Given the description of an element on the screen output the (x, y) to click on. 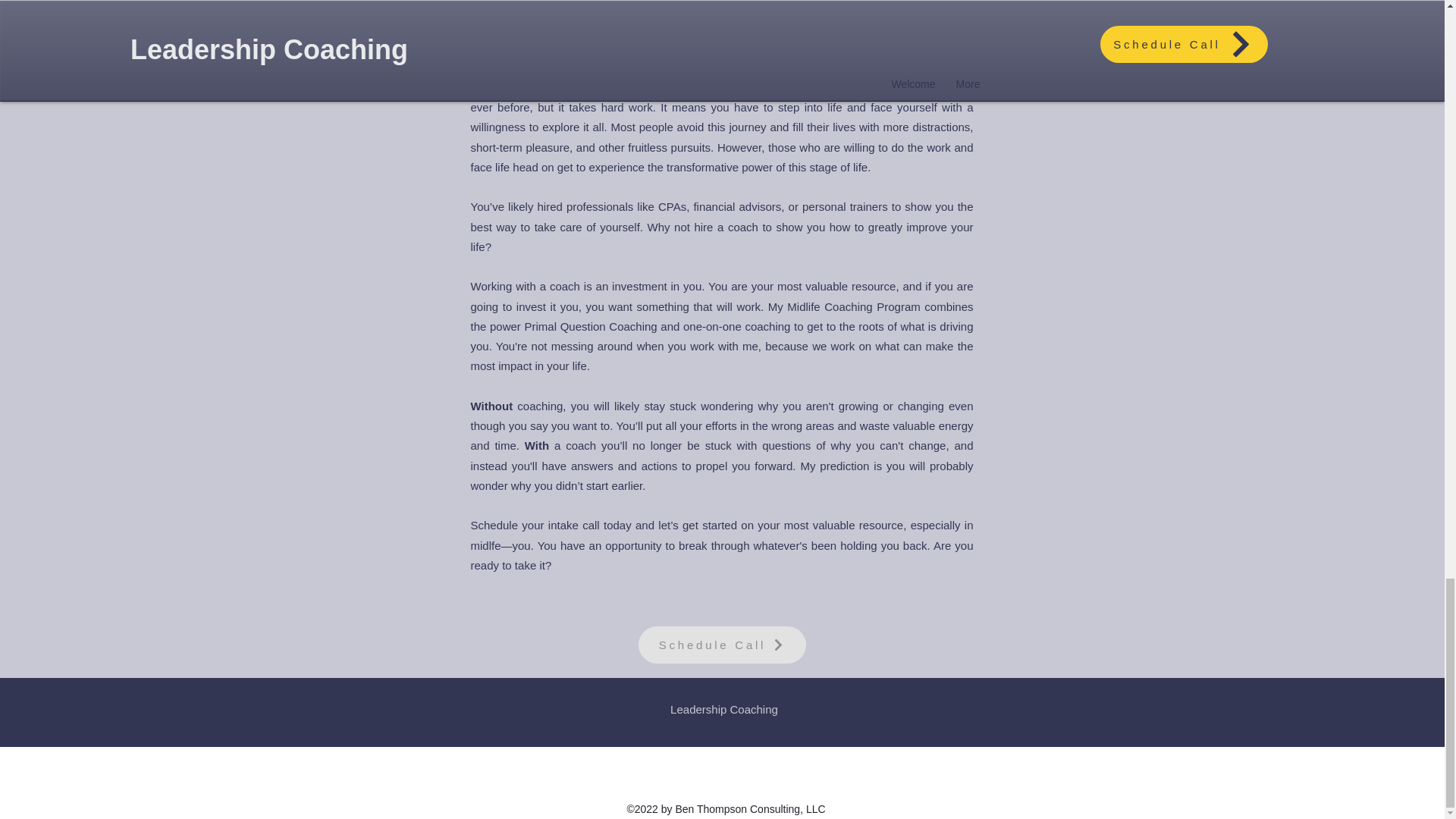
Schedule Call (722, 644)
